Given the description of an element on the screen output the (x, y) to click on. 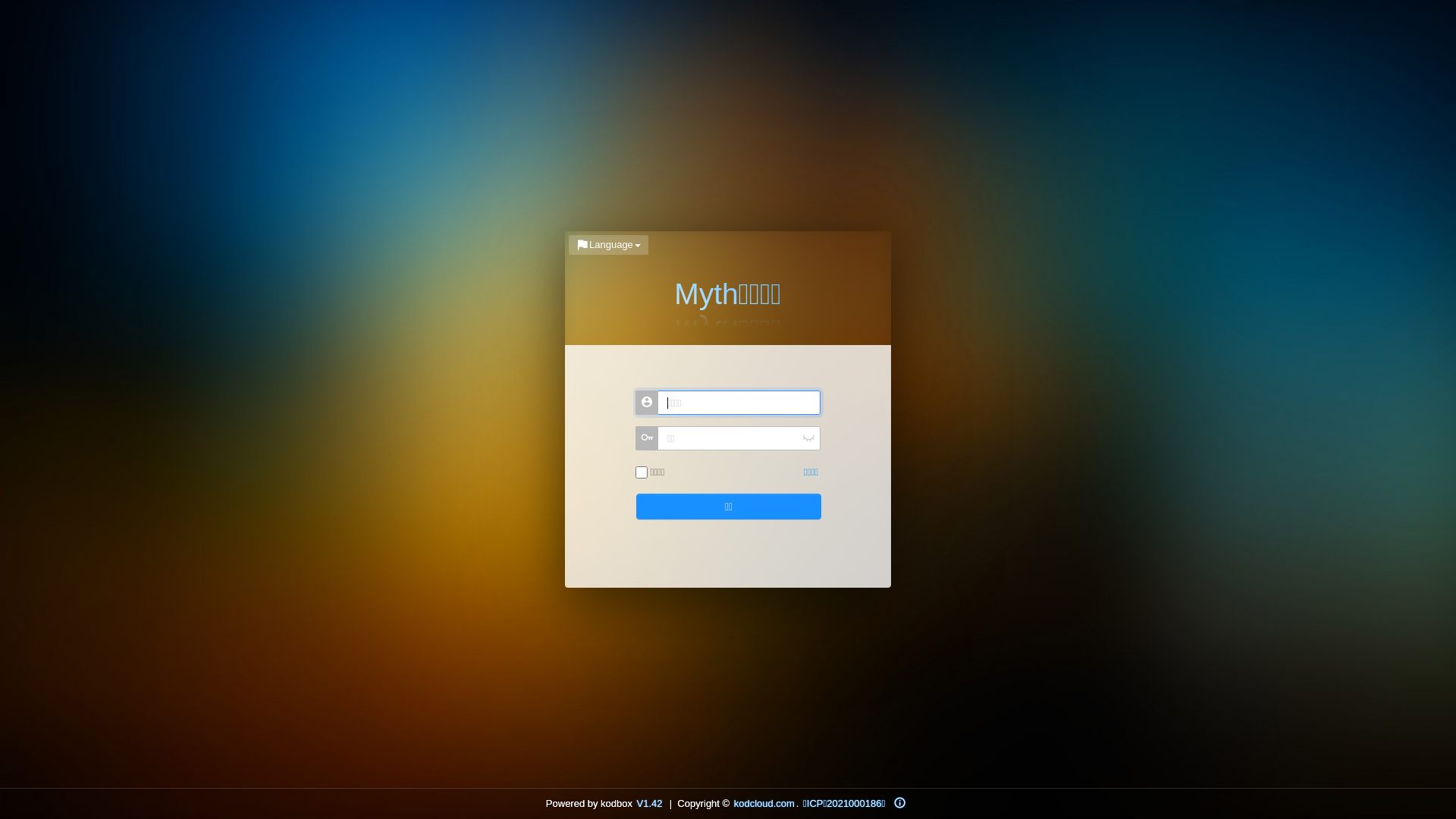
kodcloud.com Element type: text (764, 802)
V1.42 Element type: text (649, 802)
